Given the description of an element on the screen output the (x, y) to click on. 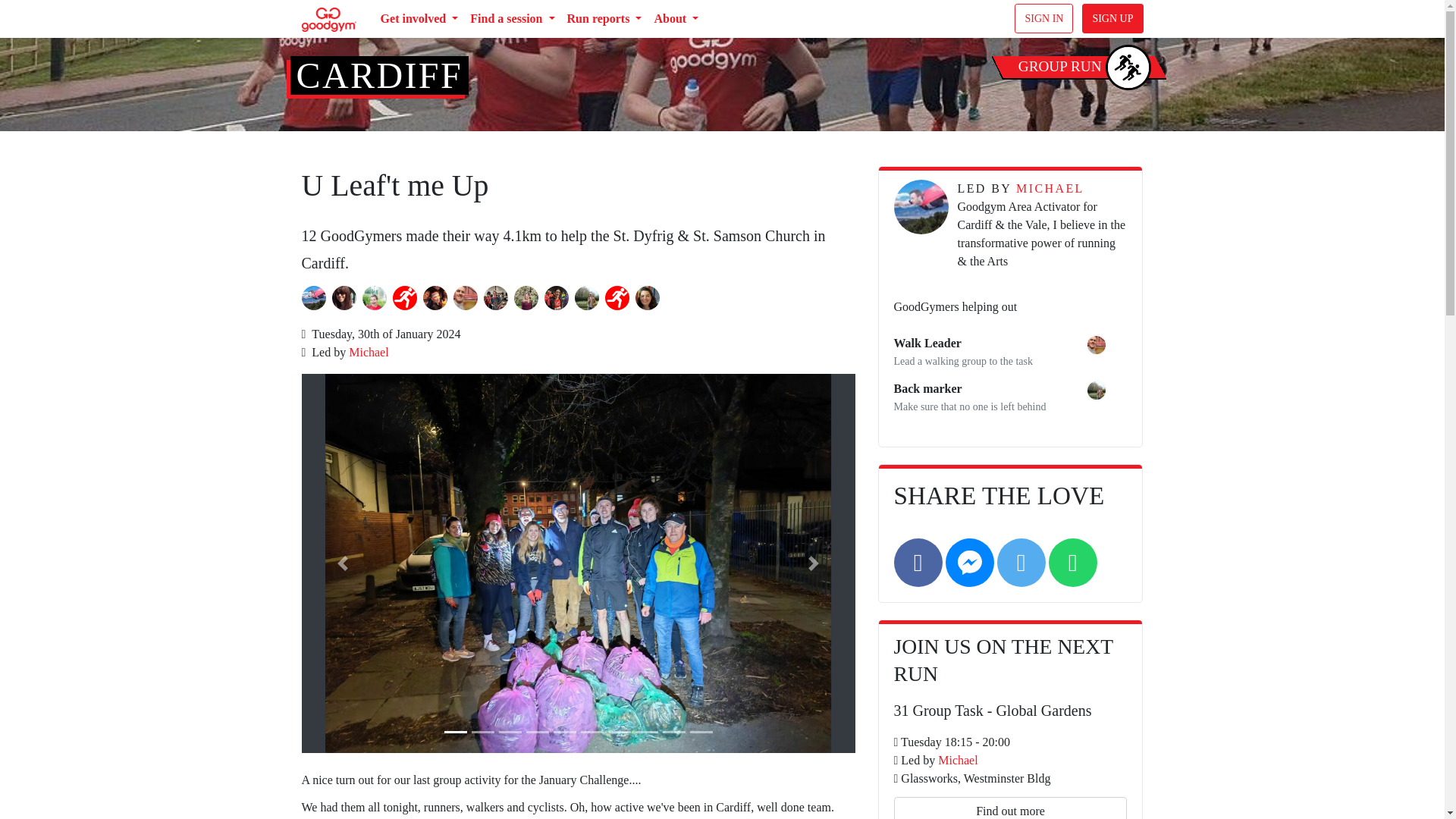
SIGN IN (1043, 18)
Get involved (419, 19)
Find a session (512, 19)
SIGN UP (1111, 18)
About (675, 19)
Run reports (603, 19)
CARDIFF (379, 75)
Messenger (968, 562)
